Given the description of an element on the screen output the (x, y) to click on. 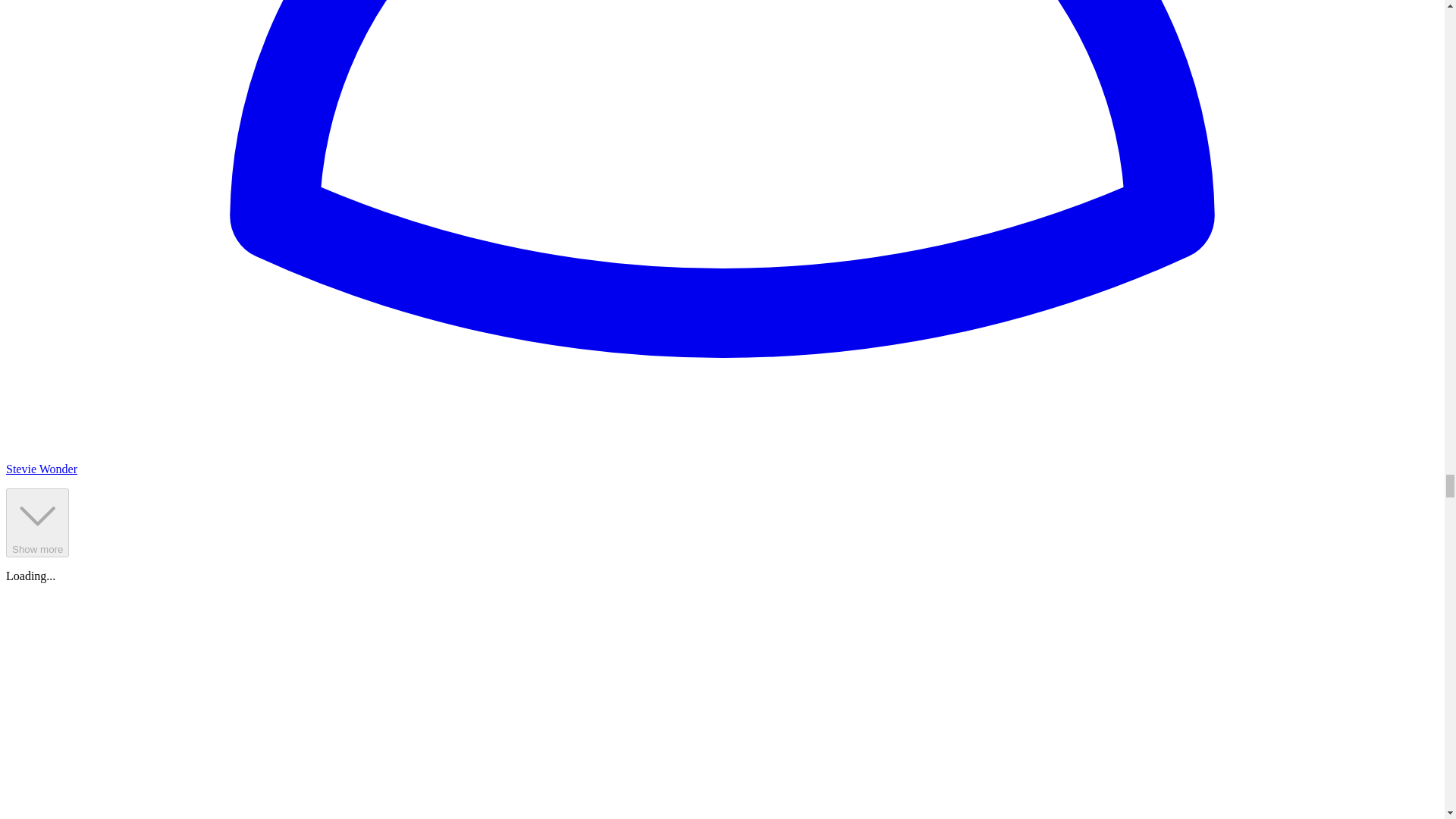
Show more (36, 522)
